Given the description of an element on the screen output the (x, y) to click on. 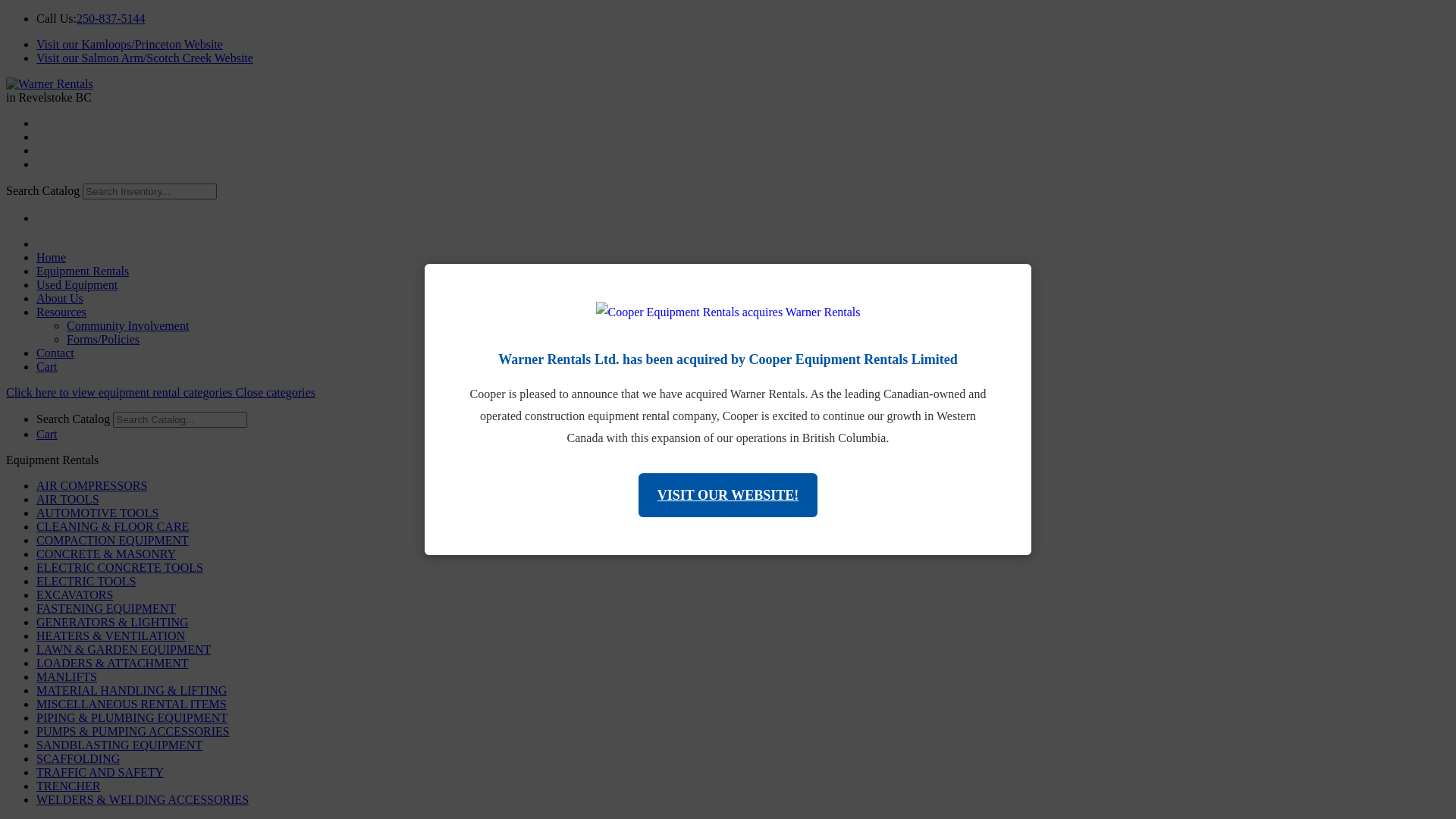
TRENCHER Element type: text (68, 785)
Forms/Policies Element type: text (102, 338)
HEATERS & VENTILATION Element type: text (110, 635)
Home Element type: text (50, 257)
Equipment Rentals Element type: text (82, 270)
MANLIFTS Element type: text (66, 676)
ELECTRIC CONCRETE TOOLS Element type: text (119, 567)
Cooper Equipment Rentals website Element type: hover (728, 311)
VISIT OUR WEBSITE! Element type: text (727, 495)
Community Involvement Element type: text (127, 325)
250-837-5144 Element type: text (110, 18)
About Us Element type: text (59, 297)
Contact Element type: text (55, 352)
SANDBLASTING EQUIPMENT Element type: text (119, 744)
TRAFFIC AND SAFETY Element type: text (99, 771)
GENERATORS & LIGHTING Element type: text (112, 621)
MATERIAL HANDLING & LIFTING Element type: text (131, 690)
AUTOMOTIVE TOOLS Element type: text (97, 512)
PIPING & PLUMBING EQUIPMENT Element type: text (131, 717)
Used Equipment Element type: text (76, 284)
LAWN & GARDEN EQUIPMENT Element type: text (123, 649)
COMPACTION EQUIPMENT Element type: text (112, 539)
MISCELLANEOUS RENTAL ITEMS Element type: text (131, 703)
LOADERS & ATTACHMENT Element type: text (112, 662)
Visit our Kamloops/Princeton Website Element type: text (129, 43)
EXCAVATORS Element type: text (74, 594)
SCAFFOLDING Element type: text (77, 758)
AIR TOOLS Element type: text (67, 498)
Cart Element type: text (46, 366)
AIR COMPRESSORS Element type: text (91, 485)
ELECTRIC TOOLS Element type: text (85, 580)
WELDERS & WELDING ACCESSORIES Element type: text (142, 799)
Resources Element type: text (61, 311)
CONCRETE & MASONRY Element type: text (105, 553)
Visit our Salmon Arm/Scotch Creek Website Element type: text (144, 57)
CLEANING & FLOOR CARE Element type: text (112, 526)
FASTENING EQUIPMENT Element type: text (105, 608)
Cart Element type: text (46, 433)
PUMPS & PUMPING ACCESSORIES Element type: text (132, 730)
